Given the description of an element on the screen output the (x, y) to click on. 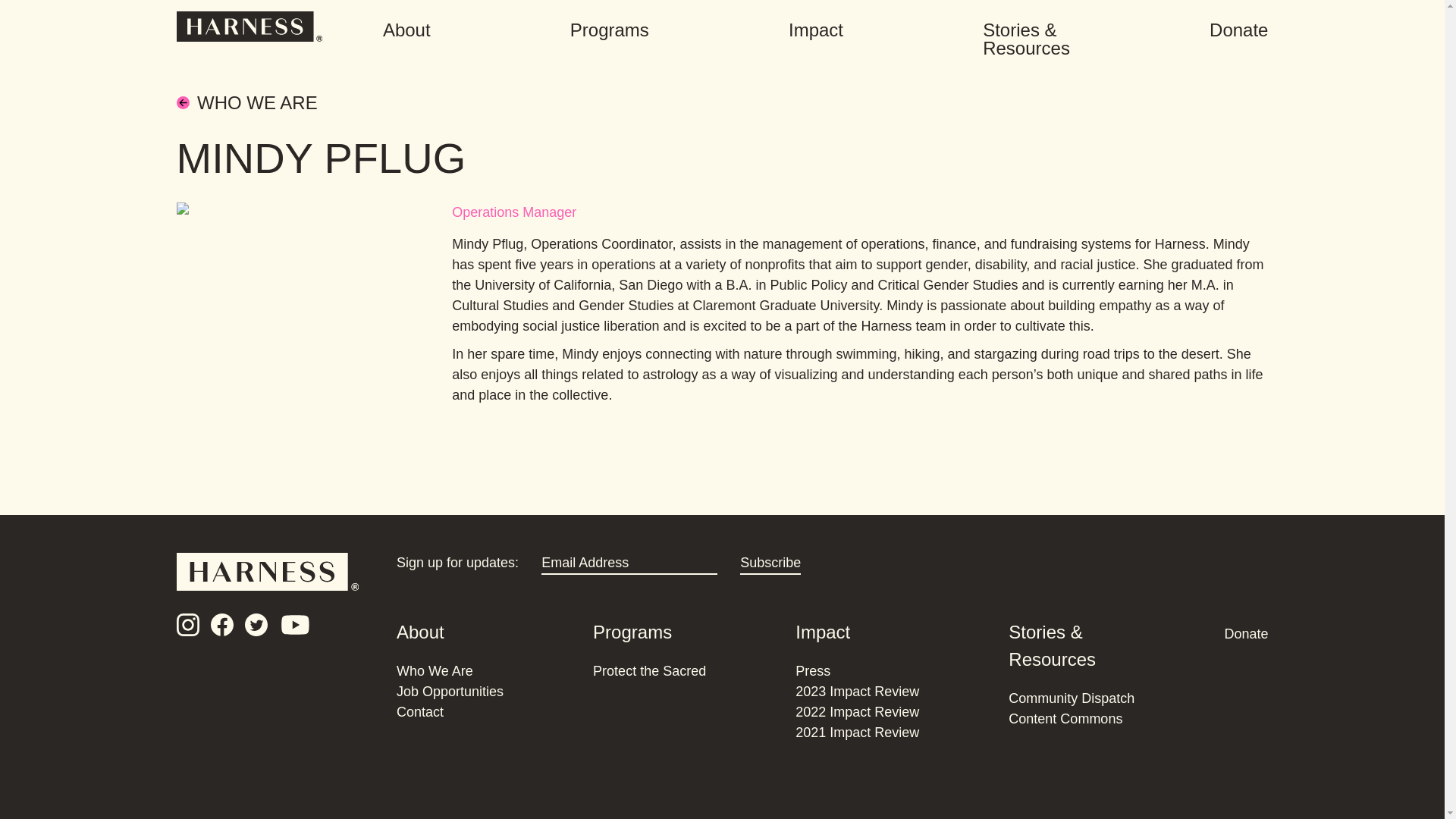
Donate (1246, 631)
Donate (1238, 32)
About (420, 631)
Impact (822, 631)
Content Commons (1065, 718)
Impact (816, 31)
About (406, 31)
Subscribe (769, 563)
Programs (609, 31)
2022 Impact Review (856, 711)
Job Opportunities (449, 691)
Contact (420, 711)
WHO WE ARE (722, 102)
2021 Impact Review (856, 732)
2023 Impact Review (856, 691)
